Given the description of an element on the screen output the (x, y) to click on. 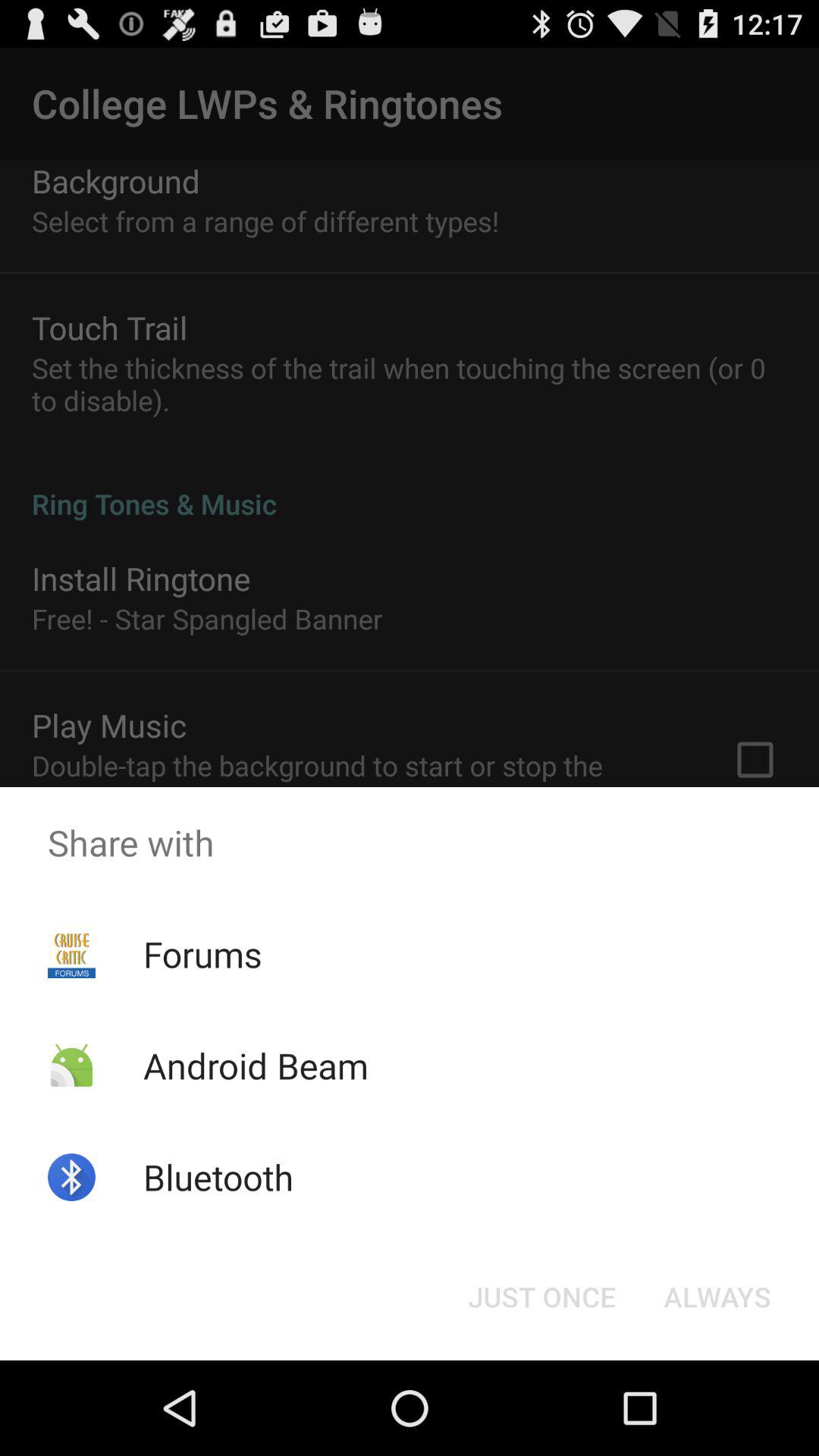
tap forums app (202, 953)
